Given the description of an element on the screen output the (x, y) to click on. 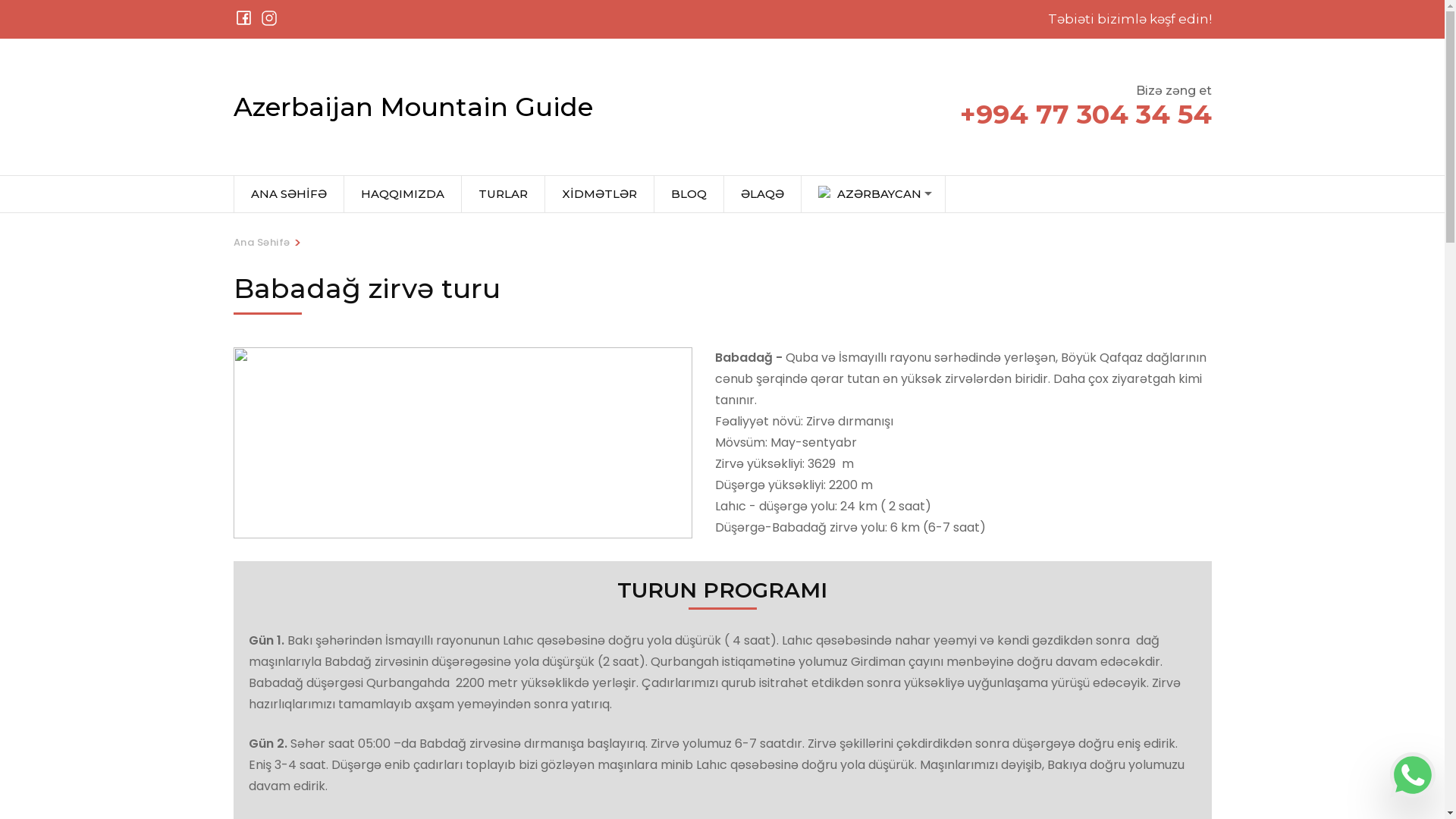
Azerbaijan Mountain Guide Element type: text (413, 106)
TURLAR Element type: text (502, 193)
HAQQIMIZDA Element type: text (402, 193)
BLOQ Element type: text (688, 193)
+994 77 304 34 54 Element type: text (1085, 113)
